Given the description of an element on the screen output the (x, y) to click on. 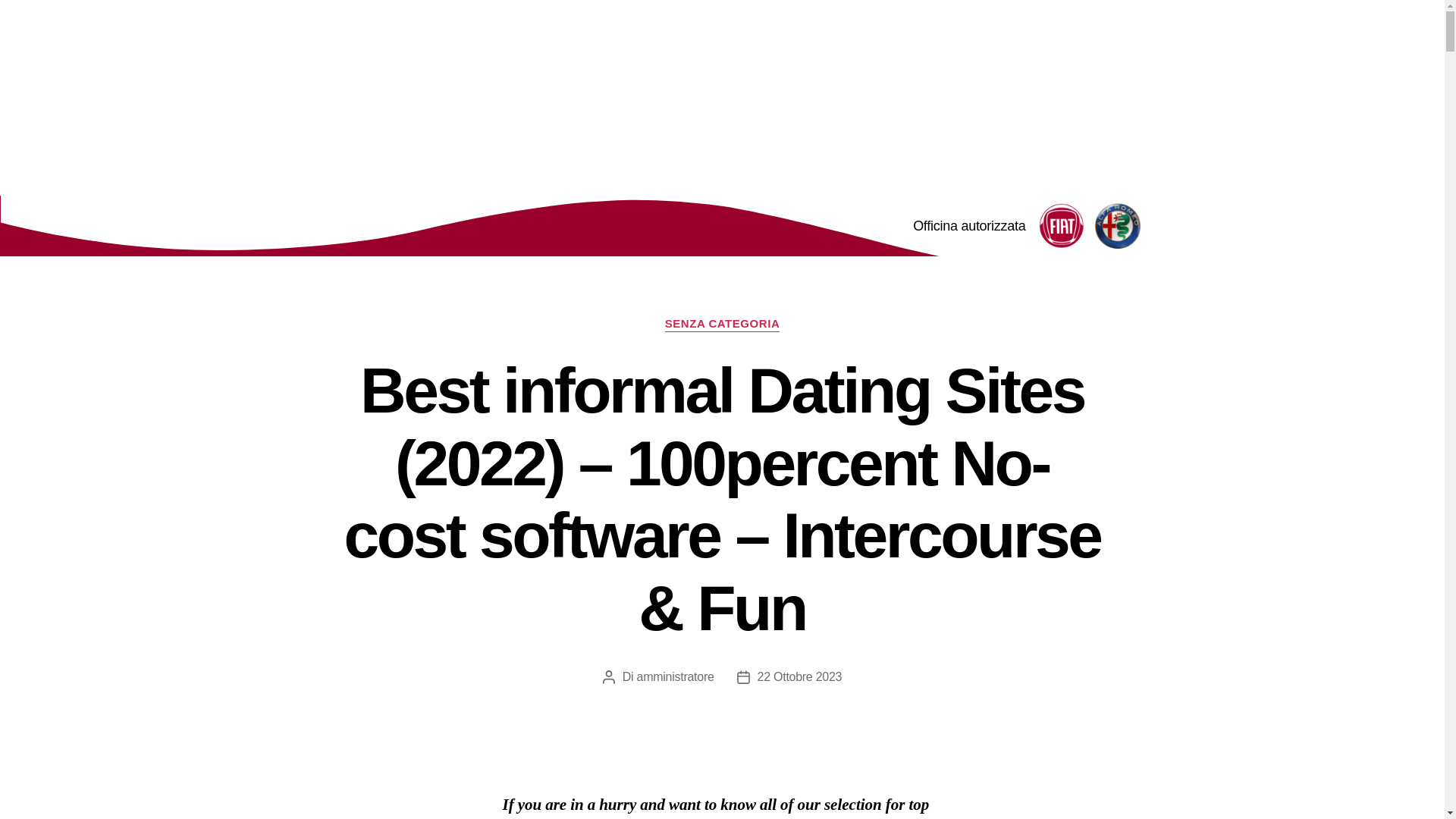
22 Ottobre 2023 (800, 676)
amministratore (675, 676)
SENZA CATEGORIA (722, 324)
